Given the description of an element on the screen output the (x, y) to click on. 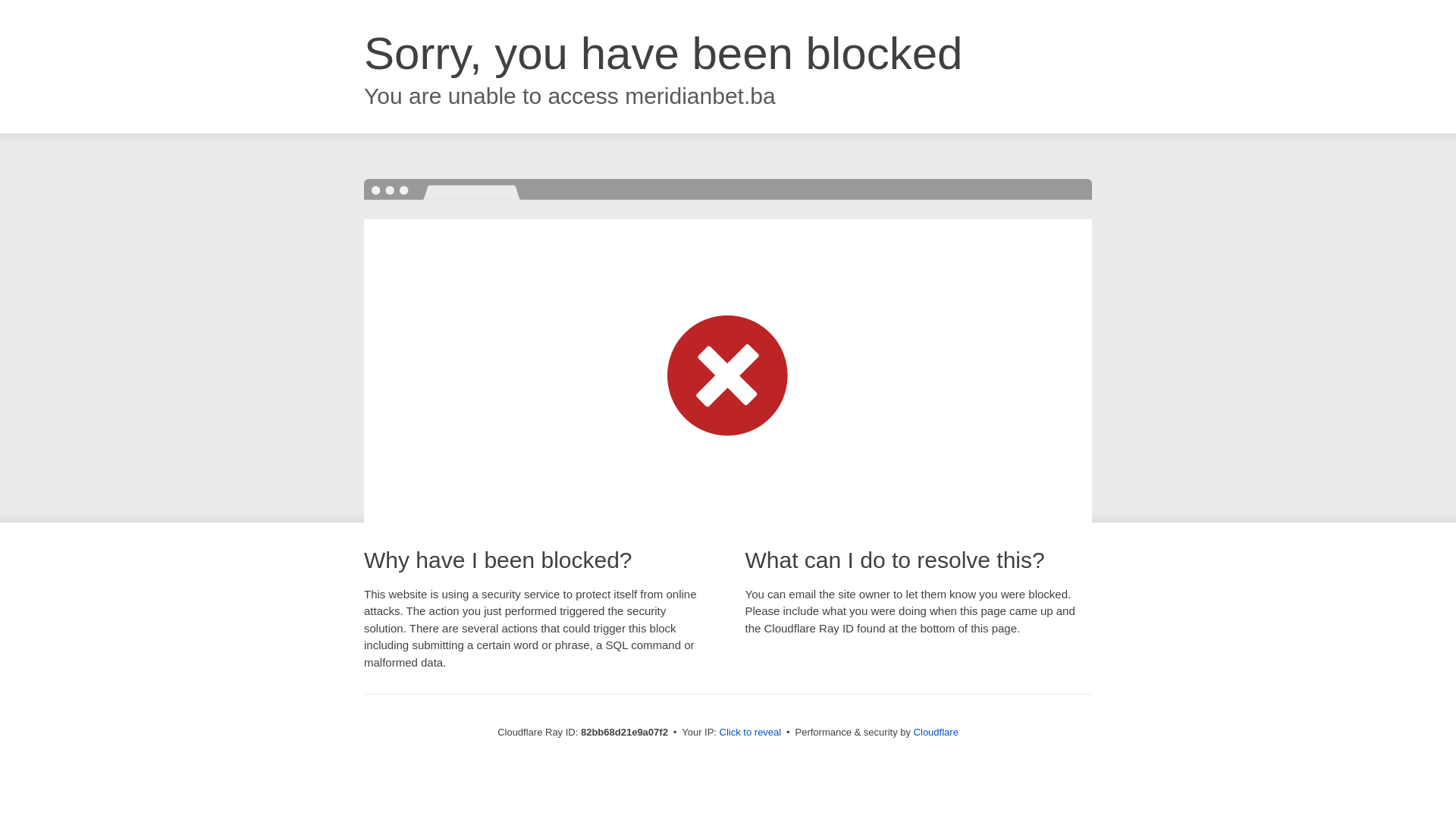
Cloudflare Element type: text (935, 731)
Click to reveal Element type: text (750, 732)
